Given the description of an element on the screen output the (x, y) to click on. 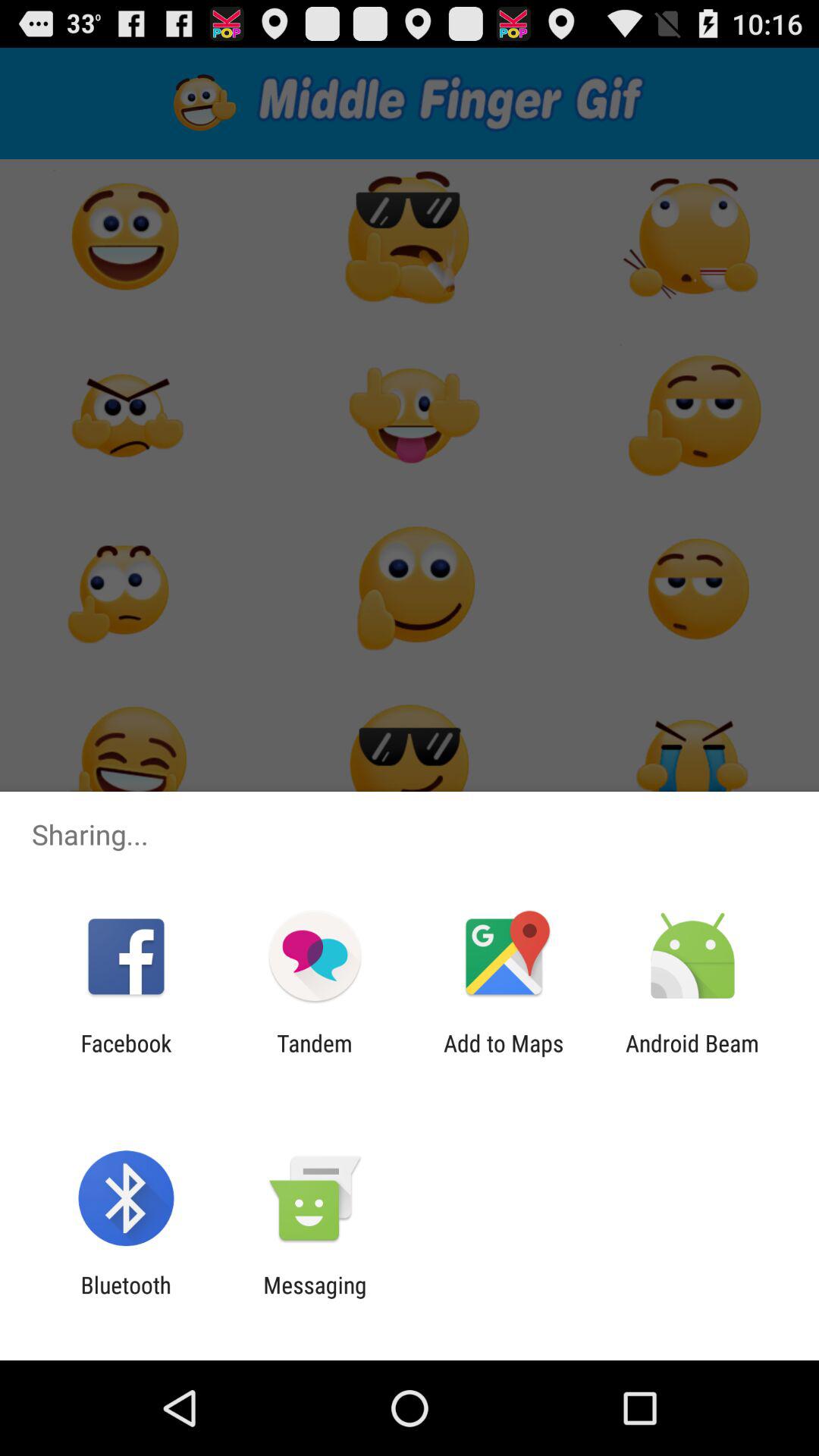
jump until the messaging item (314, 1298)
